Given the description of an element on the screen output the (x, y) to click on. 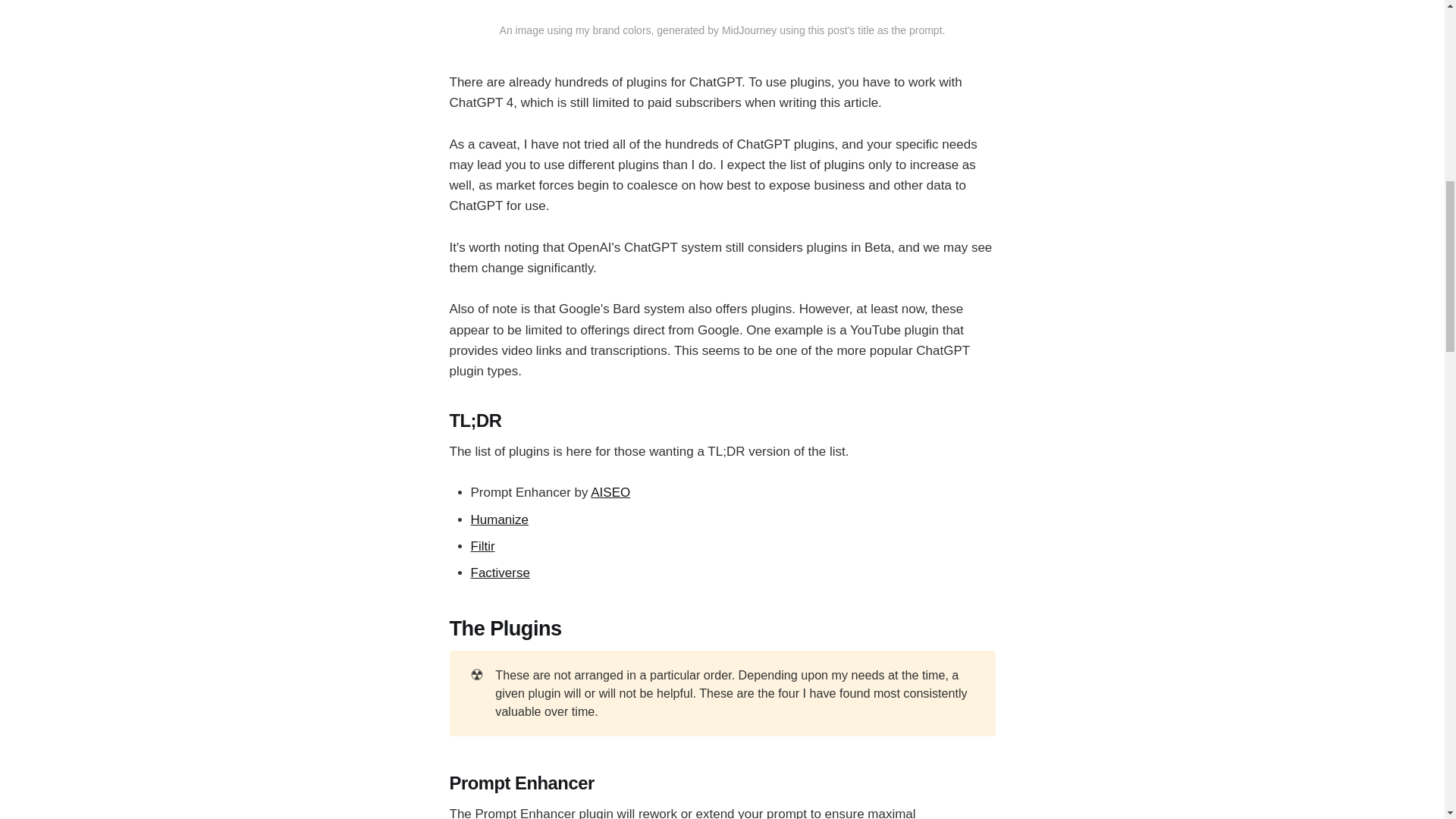
AISEO (610, 492)
Humanize (499, 519)
Filtir (482, 545)
Factiverse (499, 572)
